Given the description of an element on the screen output the (x, y) to click on. 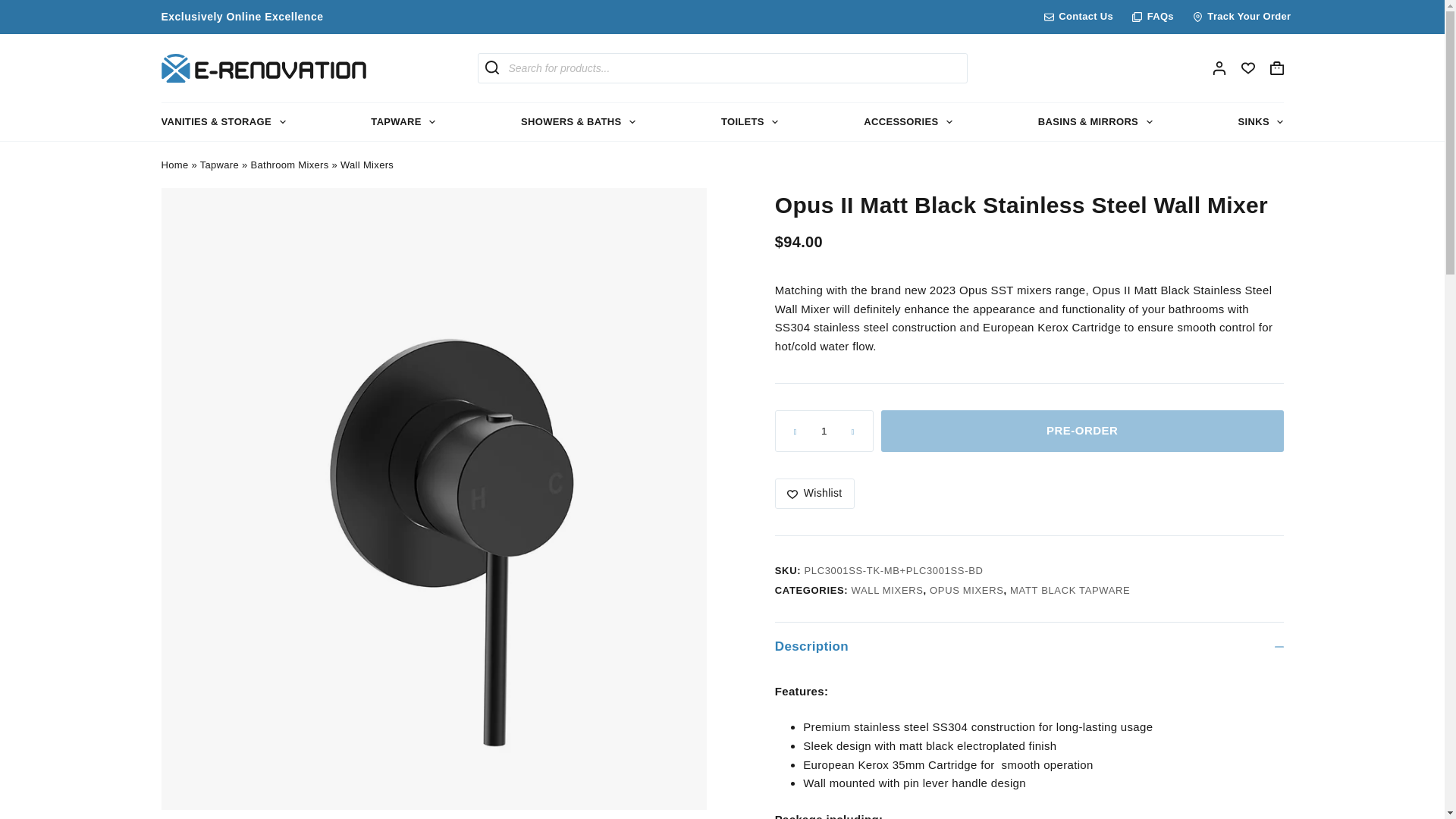
1 (823, 431)
Skip to content (15, 7)
